Given the description of an element on the screen output the (x, y) to click on. 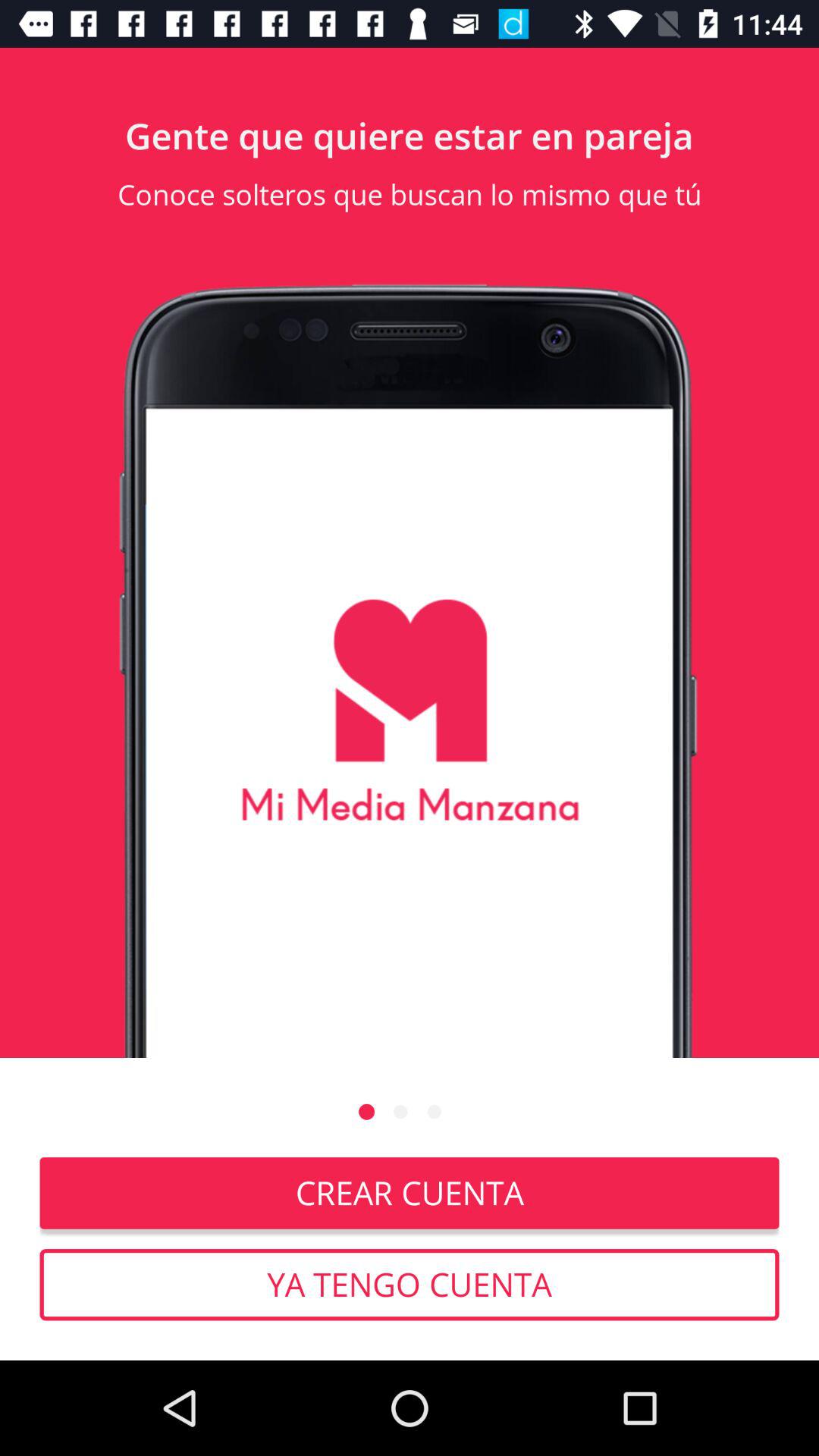
swipe to ya tengo cuenta item (409, 1284)
